Given the description of an element on the screen output the (x, y) to click on. 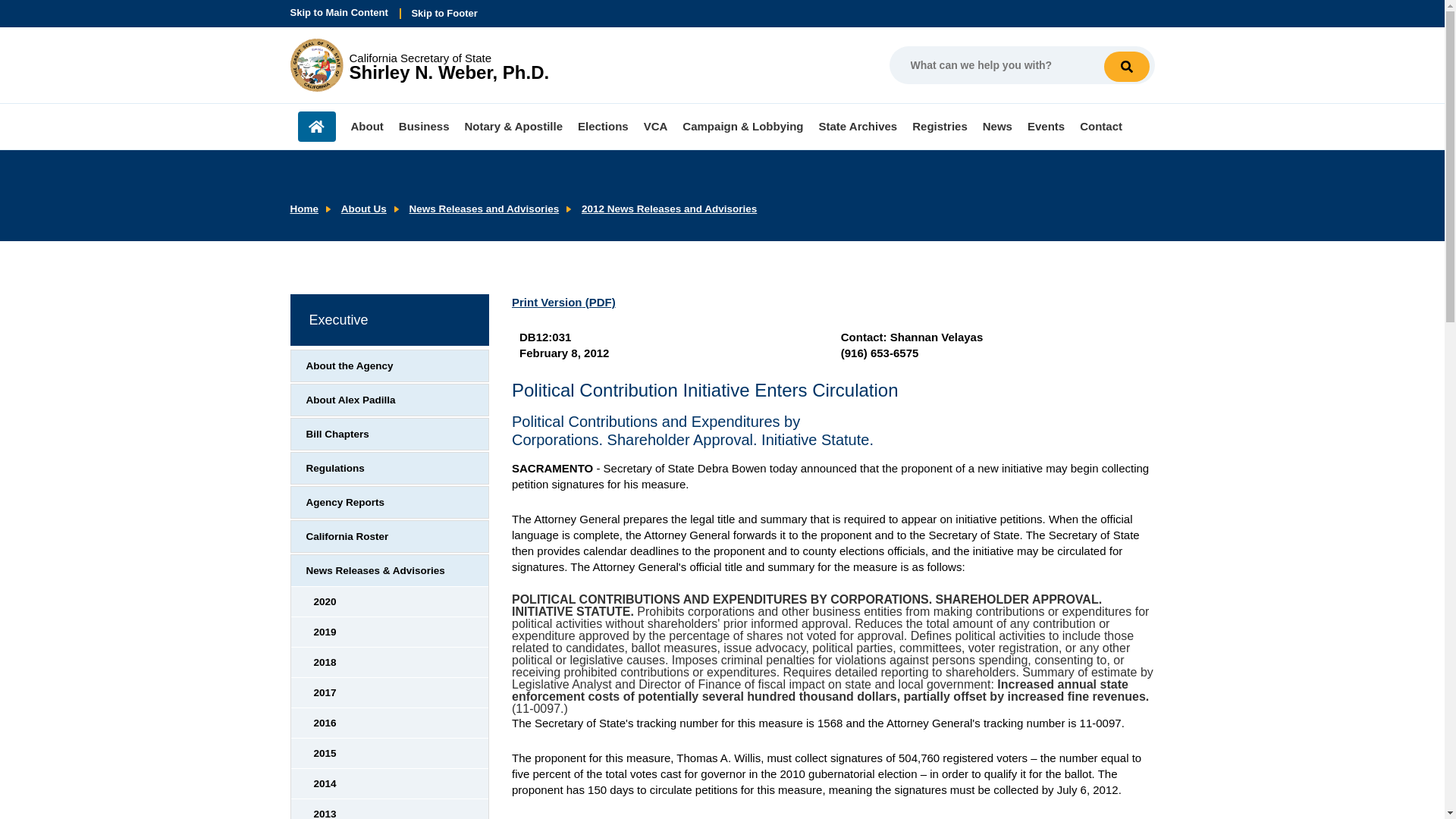
State Archives (858, 125)
About (366, 125)
California Roster (390, 536)
2013 (390, 809)
2019 (390, 632)
Business (423, 125)
News Releases and Advisories (484, 208)
Bill Chapters (390, 433)
VCA (655, 125)
2017 (418, 64)
2012 News Releases and Advisories (390, 692)
News (668, 208)
2016 (996, 125)
Home (390, 722)
